Given the description of an element on the screen output the (x, y) to click on. 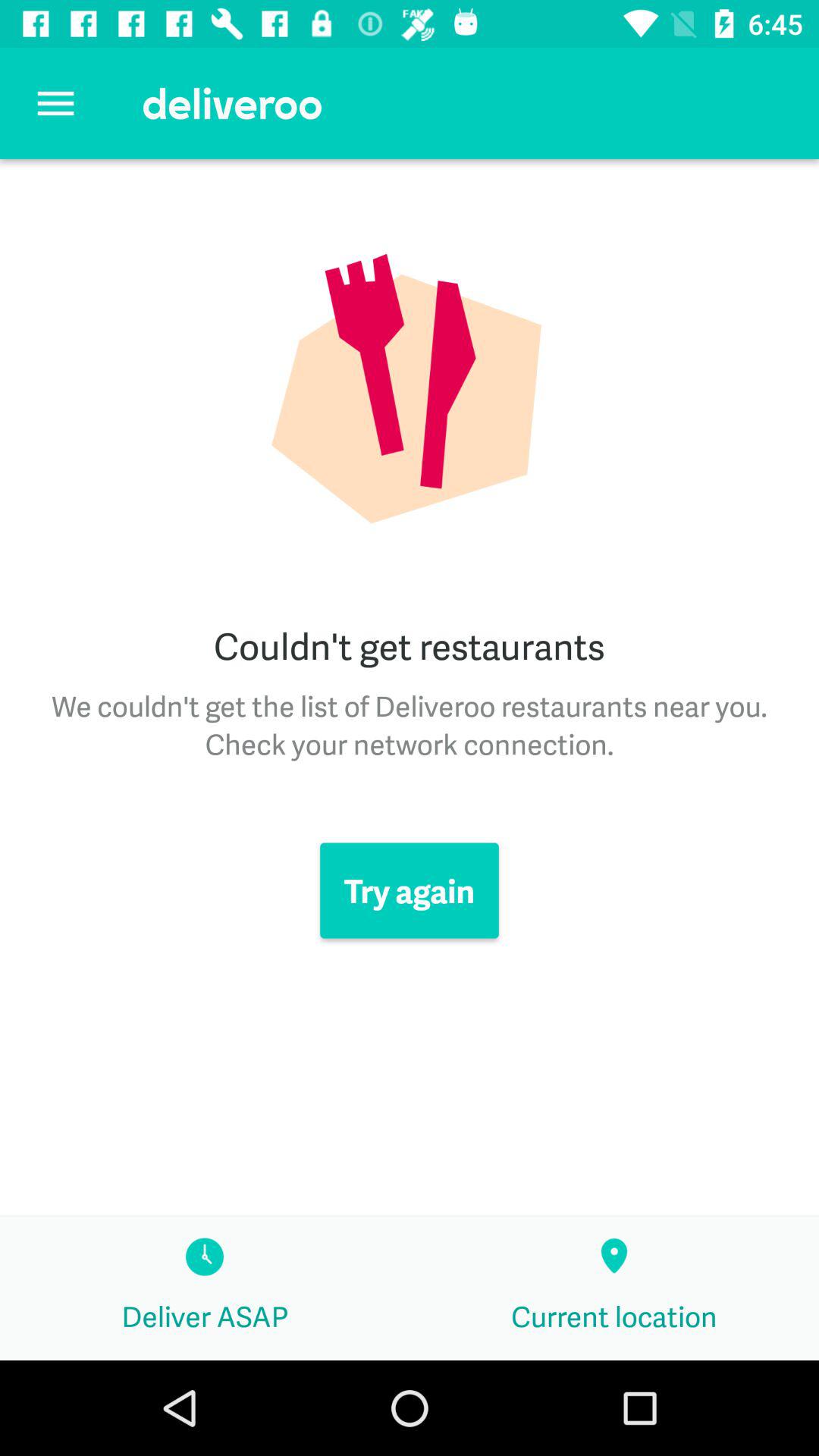
turn on item below try again item (614, 1288)
